Given the description of an element on the screen output the (x, y) to click on. 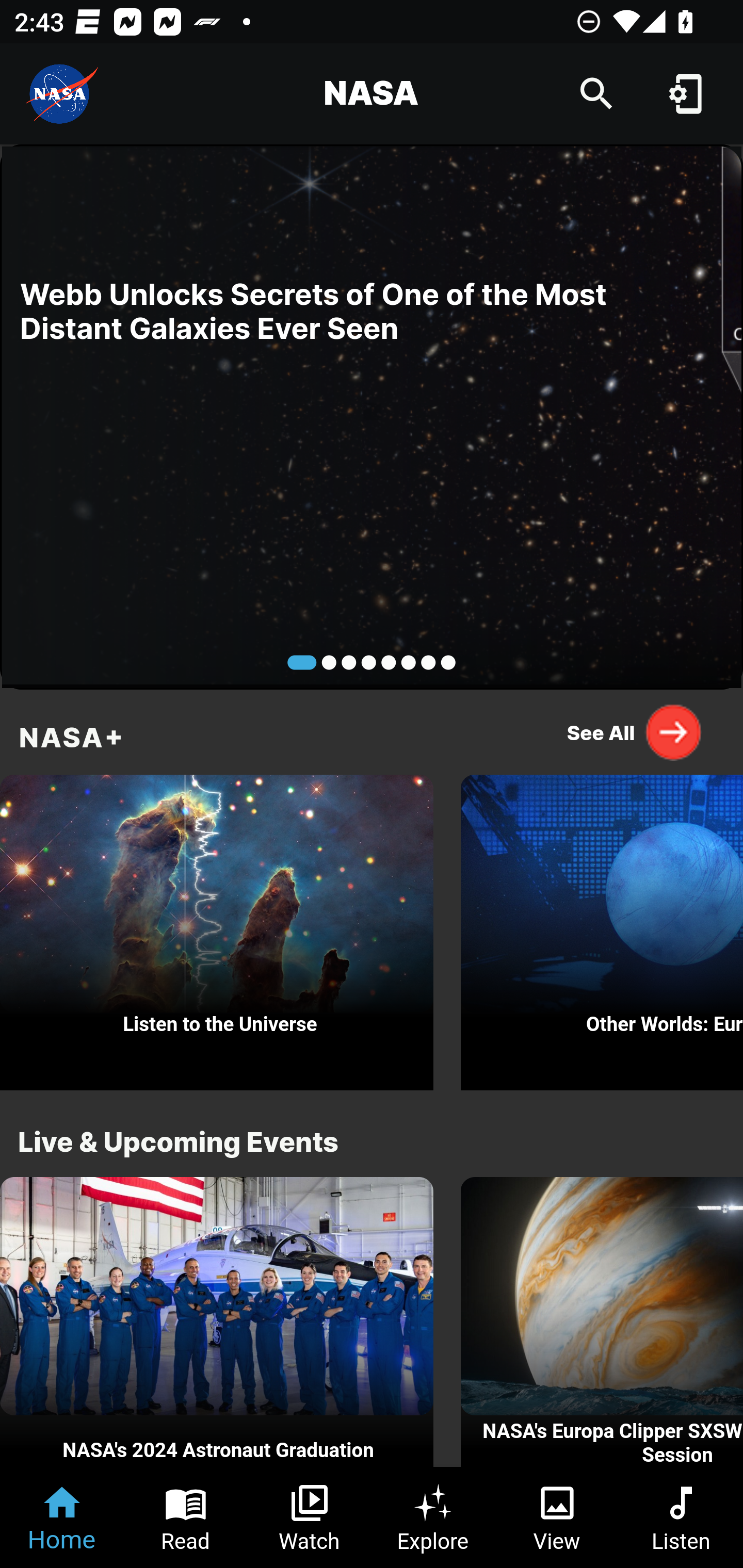
See All (634, 732)
Listen to the Universe (216, 927)
Other Worlds: Europa (601, 927)
NASA's 2024 Astronaut Graduation (216, 1322)
NASA's Europa Clipper SXSW 2024 Opening Session (601, 1322)
Home
Tab 1 of 6 (62, 1517)
Read
Tab 2 of 6 (185, 1517)
Watch
Tab 3 of 6 (309, 1517)
Explore
Tab 4 of 6 (433, 1517)
View
Tab 5 of 6 (556, 1517)
Listen
Tab 6 of 6 (680, 1517)
